Given the description of an element on the screen output the (x, y) to click on. 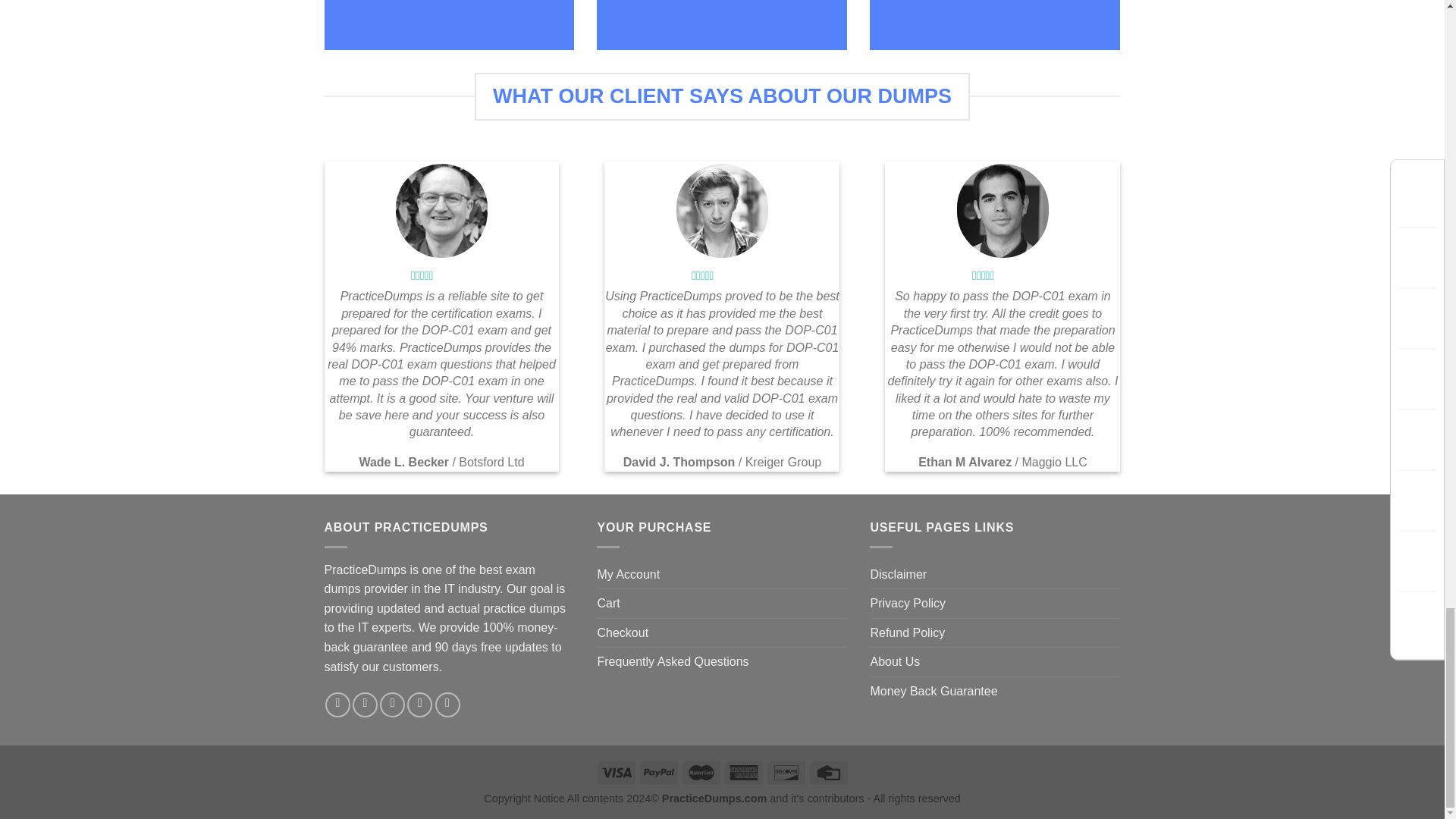
Follow on Instagram (364, 704)
Send us an email (419, 704)
Follow on Pinterest (447, 704)
Follow on Facebook (337, 704)
Follow on Twitter (392, 704)
